Given the description of an element on the screen output the (x, y) to click on. 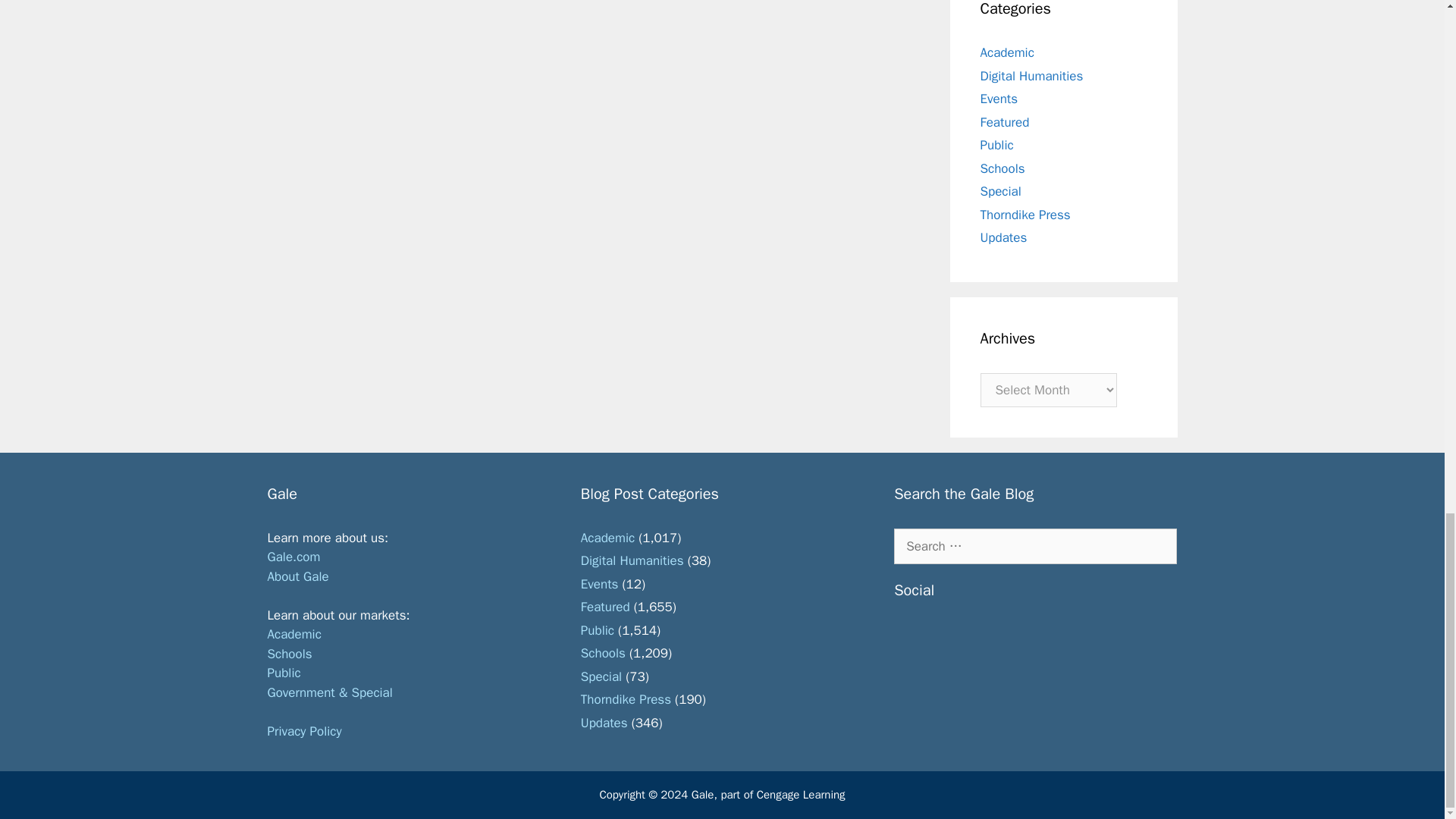
Scroll back to top (1406, 141)
Search for: (1034, 546)
